Given the description of an element on the screen output the (x, y) to click on. 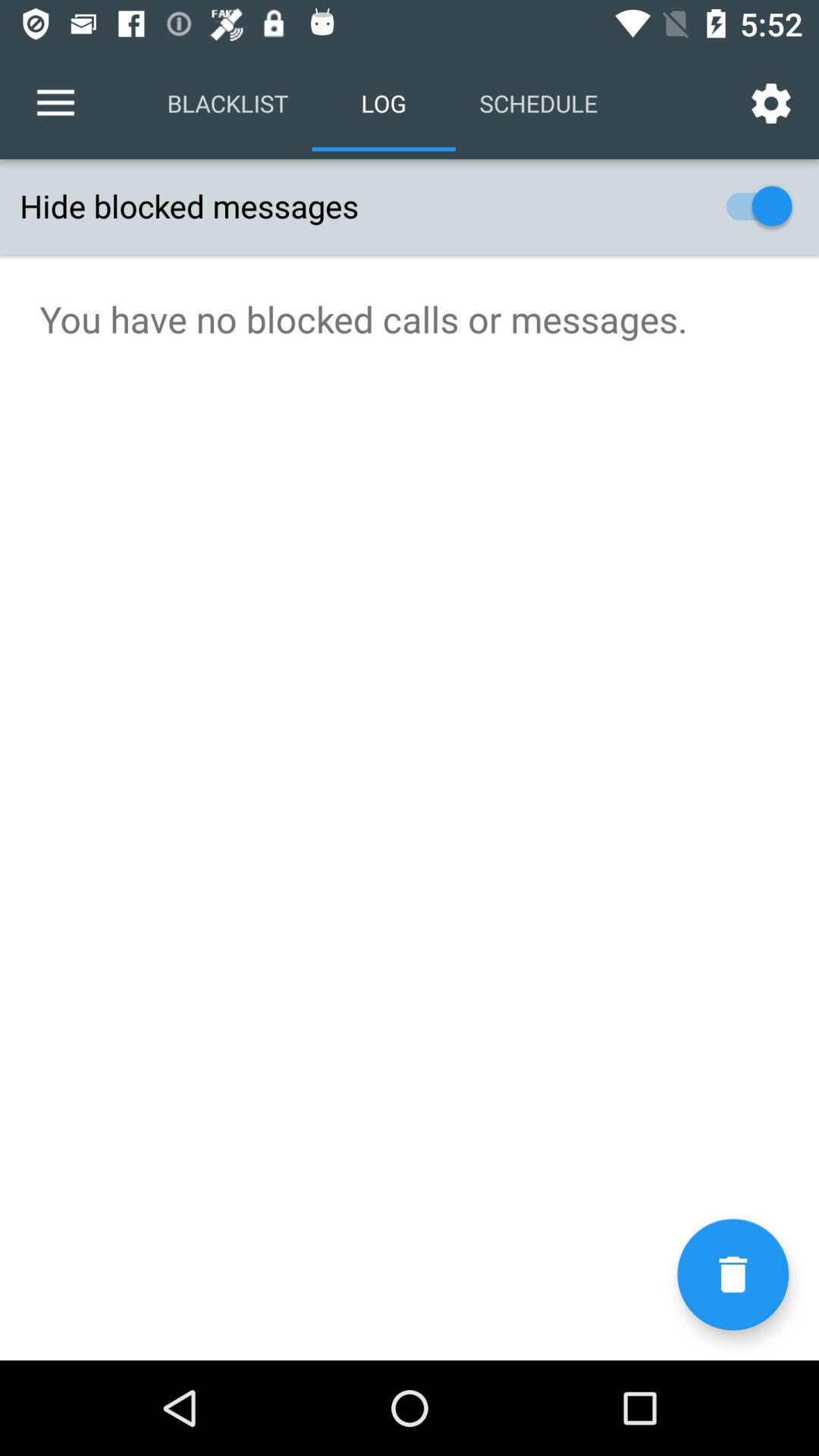
choose item at the bottom right corner (732, 1274)
